Given the description of an element on the screen output the (x, y) to click on. 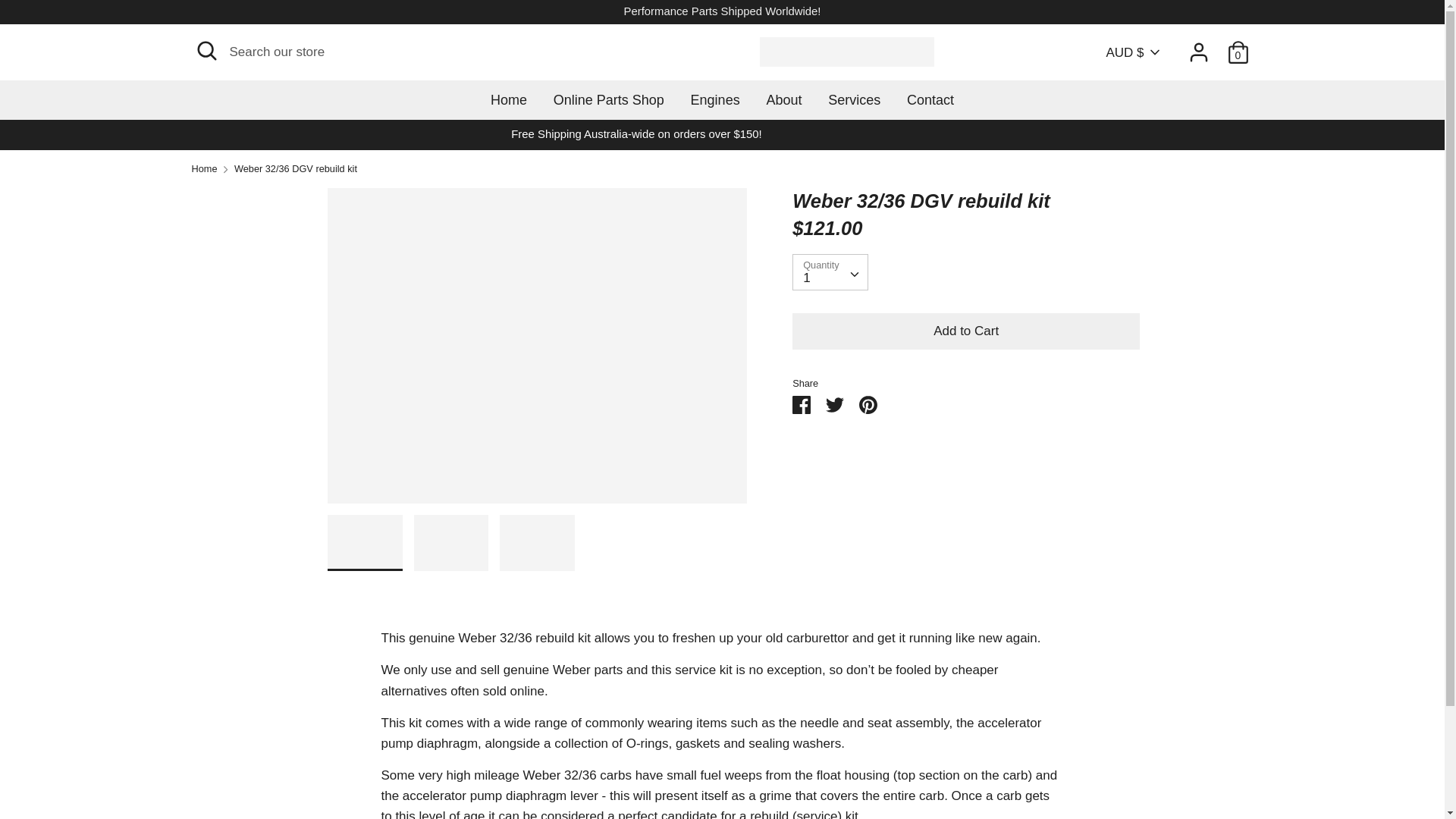
American Express (999, 769)
Union Pay (1203, 769)
Google Pay (1066, 769)
Visa (1236, 769)
1 (830, 271)
Mastercard (1101, 769)
Apple Pay (1033, 769)
PayPal (1135, 769)
Shop Pay (1168, 769)
